Given the description of an element on the screen output the (x, y) to click on. 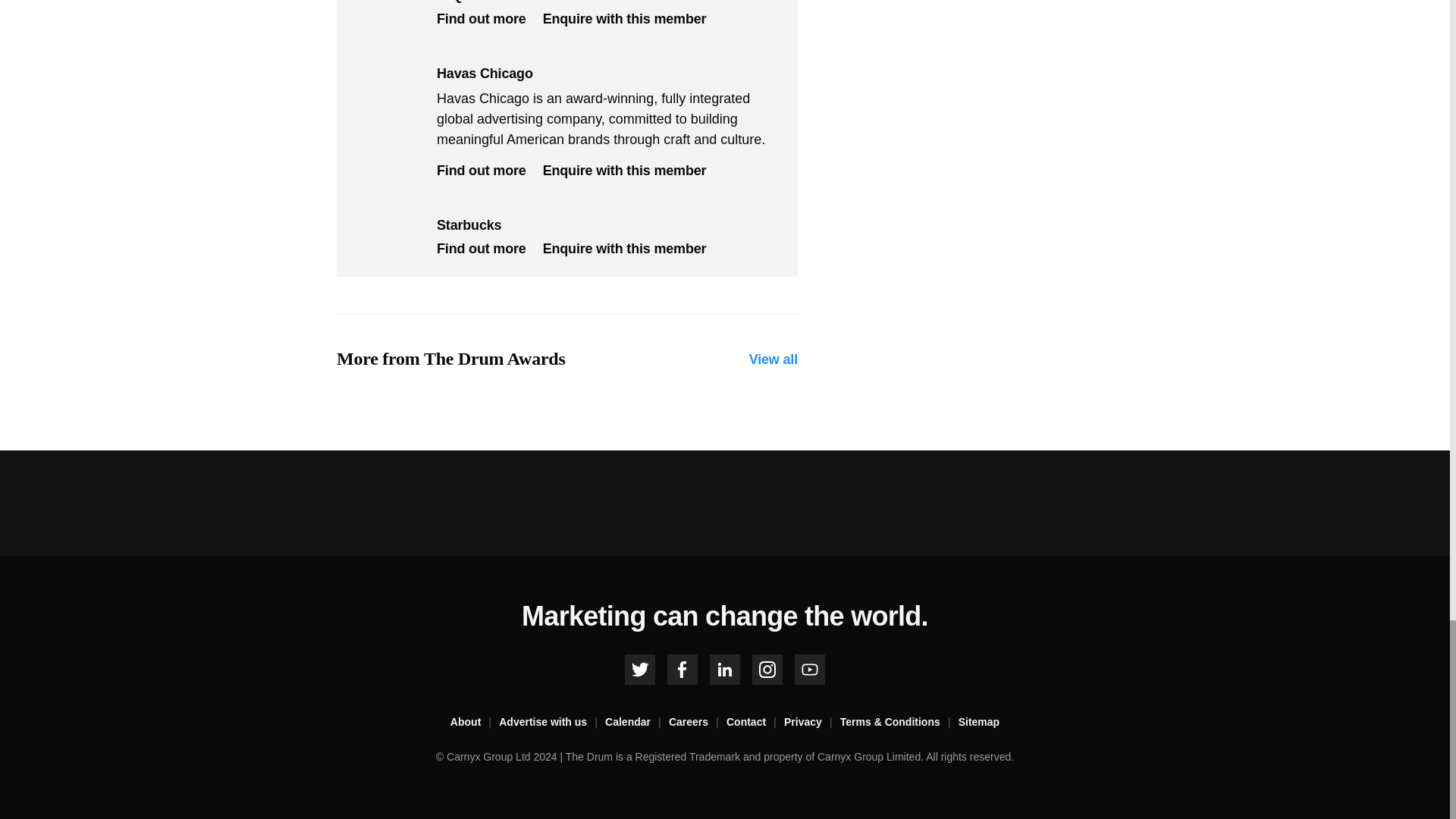
View all (773, 359)
Enquire with this member (624, 19)
Find out more (480, 249)
Find out more (480, 19)
Find out more (480, 171)
Enquire with this member (624, 249)
Enquire with this member (624, 171)
